Given the description of an element on the screen output the (x, y) to click on. 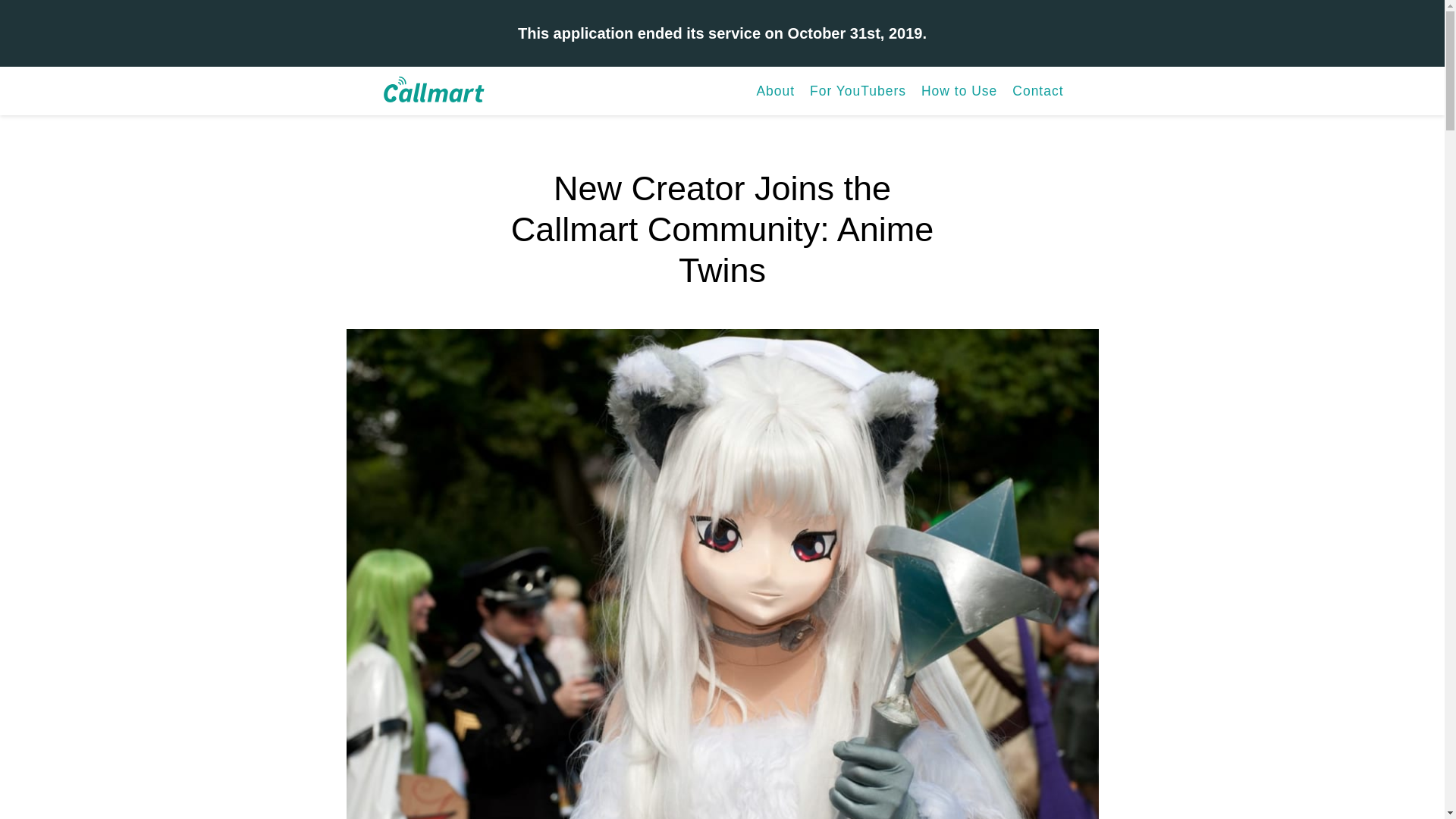
For YouTubers (857, 90)
About (774, 90)
Contact (1036, 90)
How to Use (959, 90)
